Given the description of an element on the screen output the (x, y) to click on. 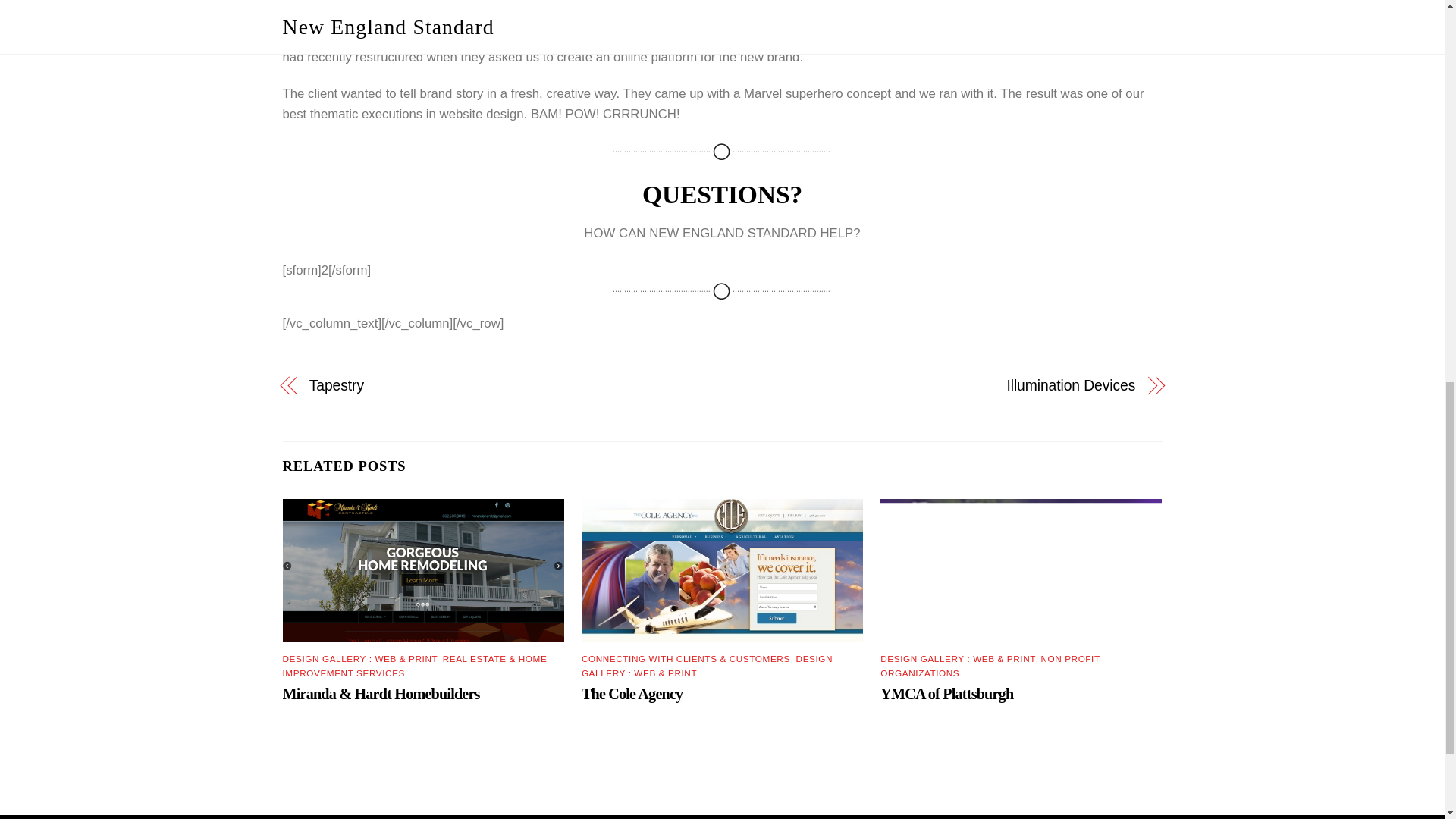
Illumination Devices (941, 385)
Tapestry (501, 385)
NON PROFIT ORGANIZATIONS (989, 665)
NES-g-YMCA (1020, 569)
NES-g-MIRANDA (422, 569)
NES-g-COLE (721, 569)
The Cole Agency (631, 693)
YMCA of Plattsburgh (946, 693)
